Given the description of an element on the screen output the (x, y) to click on. 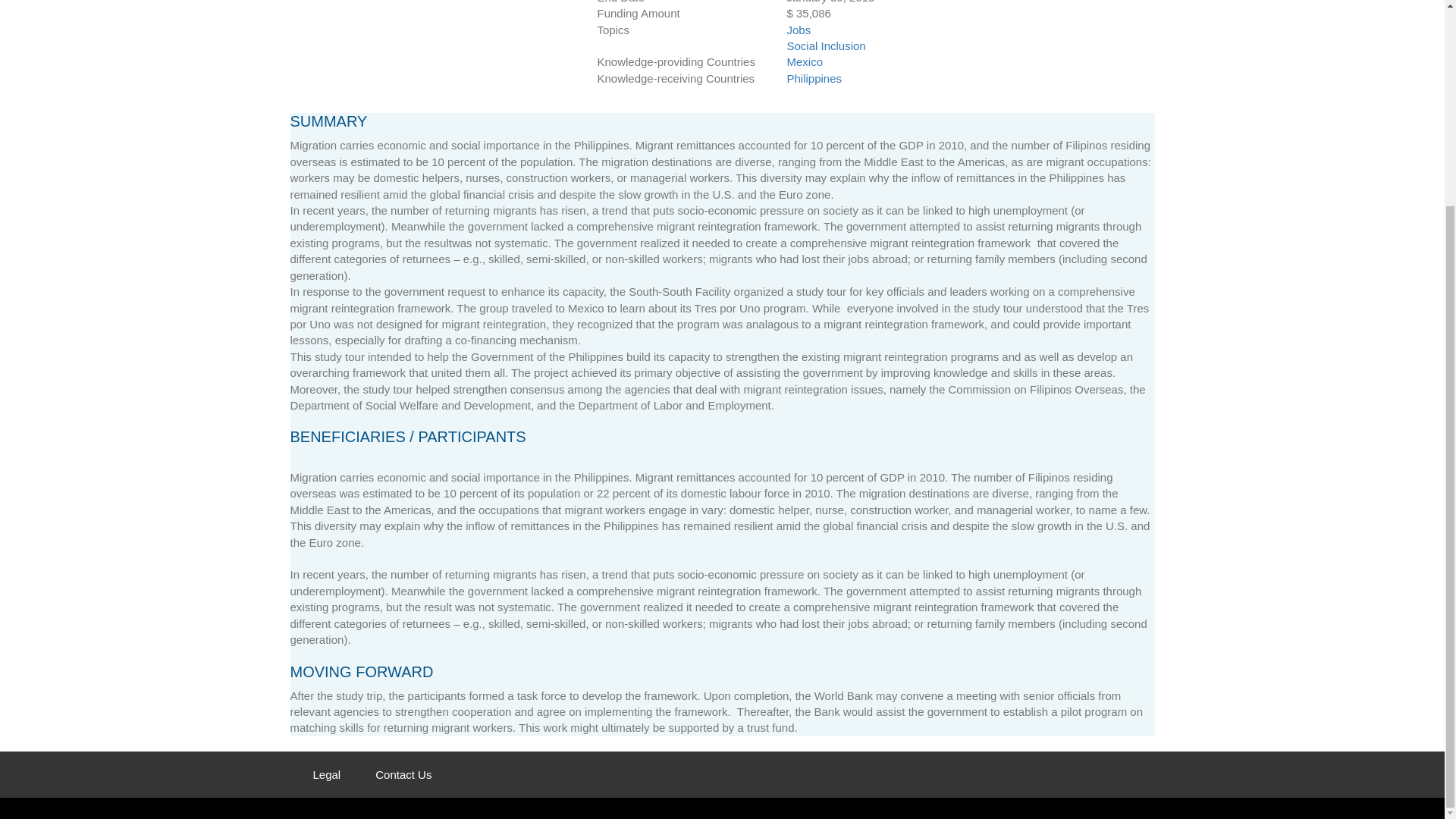
Social Inclusion (964, 45)
Jobs (964, 29)
Mexico (804, 61)
Philippines (813, 78)
Legal (326, 774)
Contact Us (403, 774)
